Given the description of an element on the screen output the (x, y) to click on. 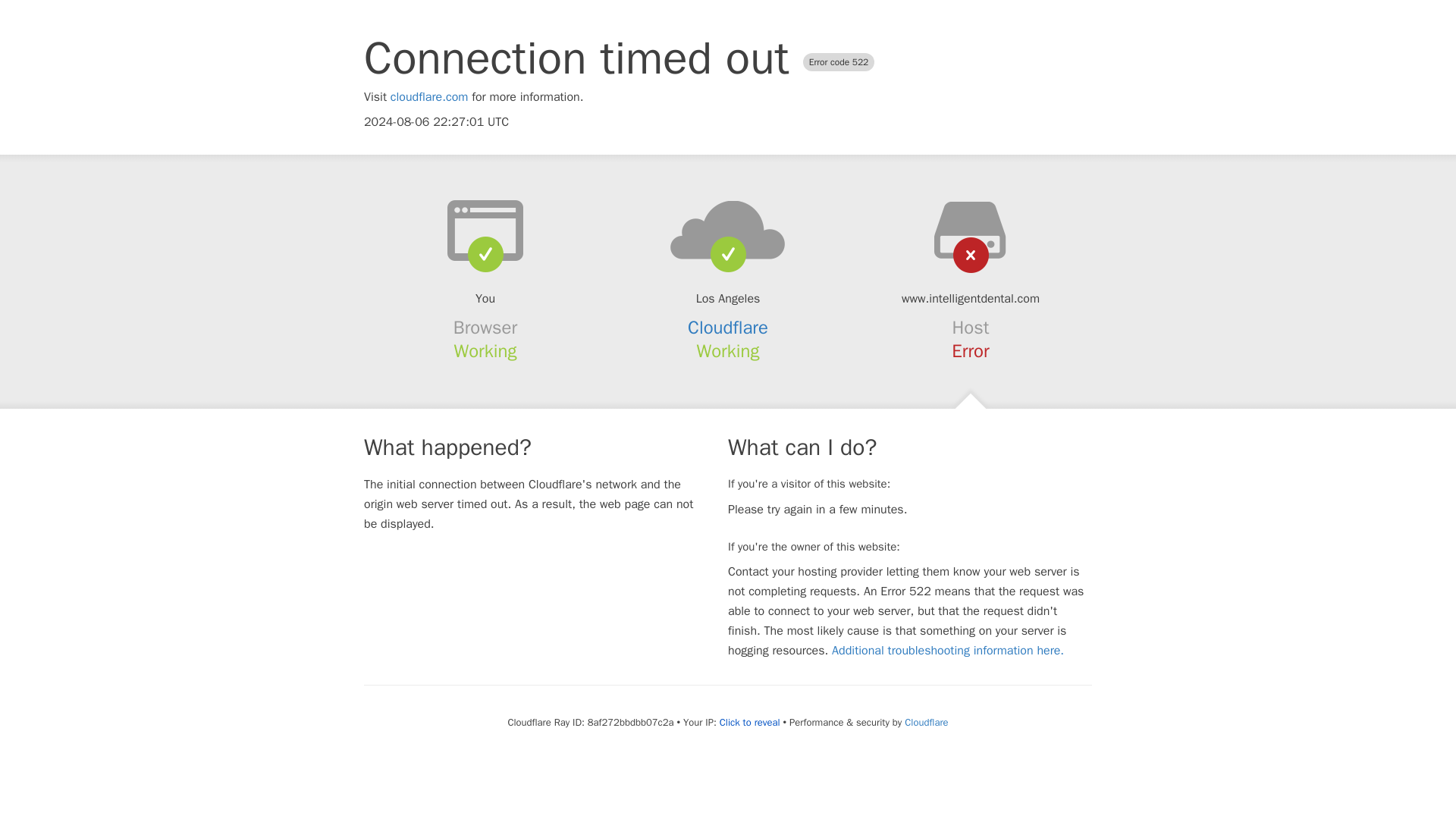
Cloudflare (925, 721)
Click to reveal (749, 722)
Cloudflare (727, 327)
cloudflare.com (429, 96)
Additional troubleshooting information here. (947, 650)
